Given the description of an element on the screen output the (x, y) to click on. 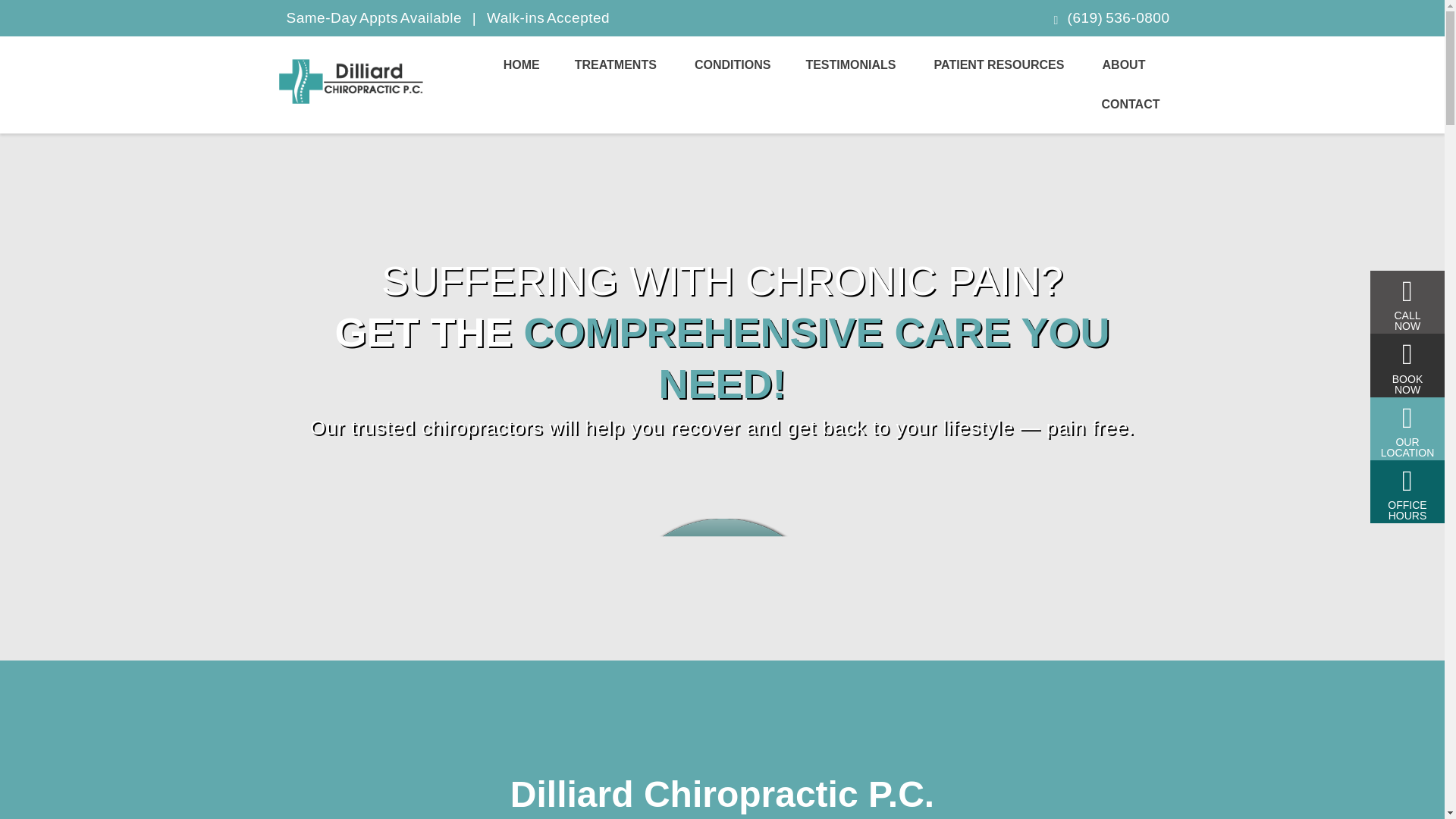
Same-Day Appts Available (374, 17)
TESTIMONIALS (851, 65)
CONTACT (1130, 104)
Walk-ins Accepted (548, 17)
TREATMENTS (617, 65)
HOME (521, 65)
PATIENT RESOURCES (1001, 65)
ABOUT (1125, 65)
CONDITIONS (732, 65)
